Given the description of an element on the screen output the (x, y) to click on. 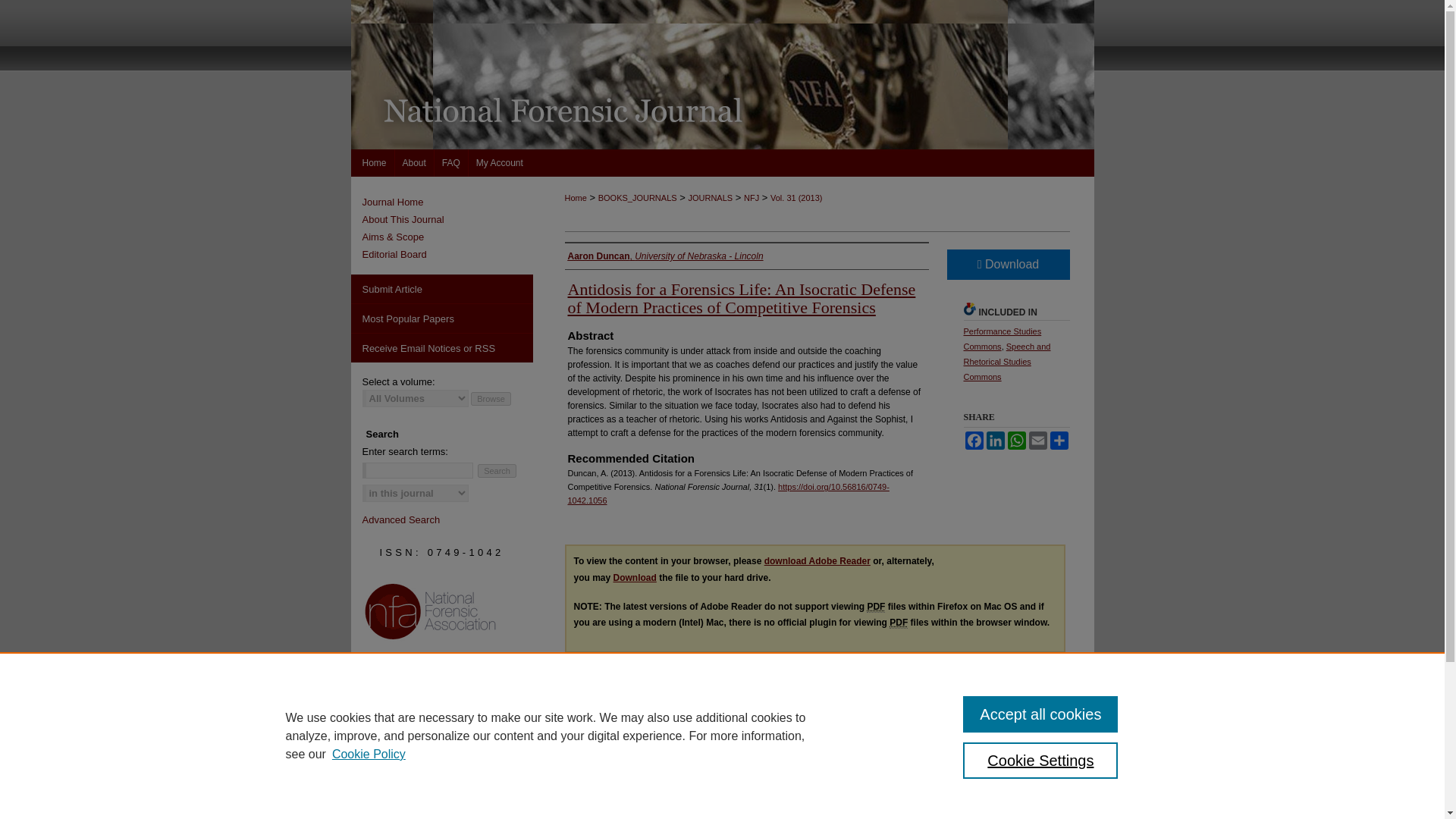
Speech and Rhetorical Studies Commons (1005, 361)
Browse (490, 397)
Browse (490, 397)
About (413, 162)
Journal Home (447, 202)
My Account (499, 162)
Facebook (973, 440)
Search (496, 470)
Download (634, 577)
My Account (499, 162)
Receive Email Notices or RSS (441, 347)
Performance Studies Commons (1001, 338)
Speech and Rhetorical Studies Commons (1005, 361)
Email (1037, 440)
Submit Article (441, 288)
